Given the description of an element on the screen output the (x, y) to click on. 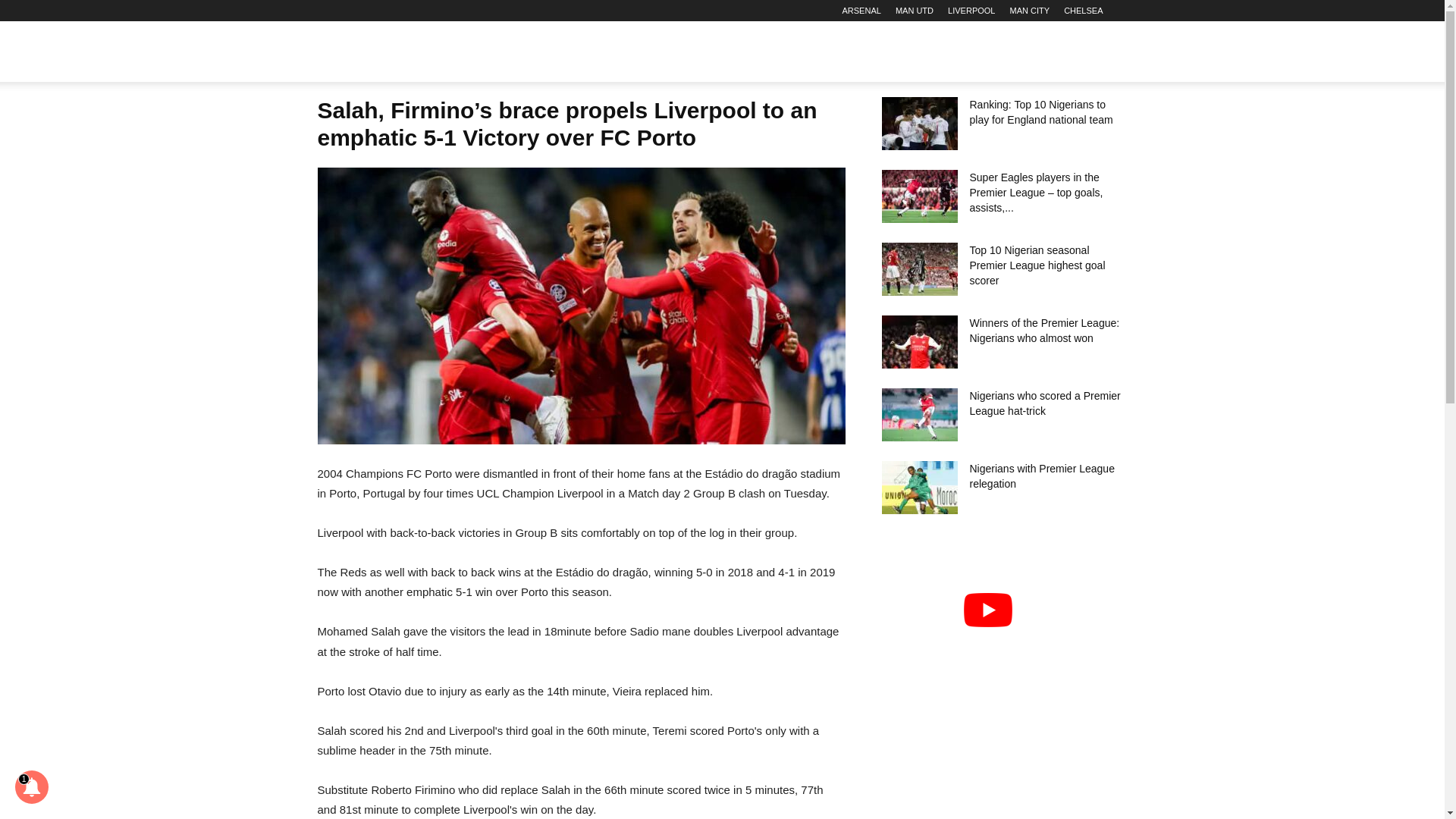
GOALBALL (392, 52)
MAN UTD (914, 10)
Top 10 Nigerian seasonal Premier League highest goal scorer (918, 268)
Ranking: Top 10 Nigerians to play for England national team (1040, 112)
LIVERPOOL (970, 10)
ARSENAL (860, 10)
Ranking: Top 10 Nigerians to play for England national team (918, 123)
